Given the description of an element on the screen output the (x, y) to click on. 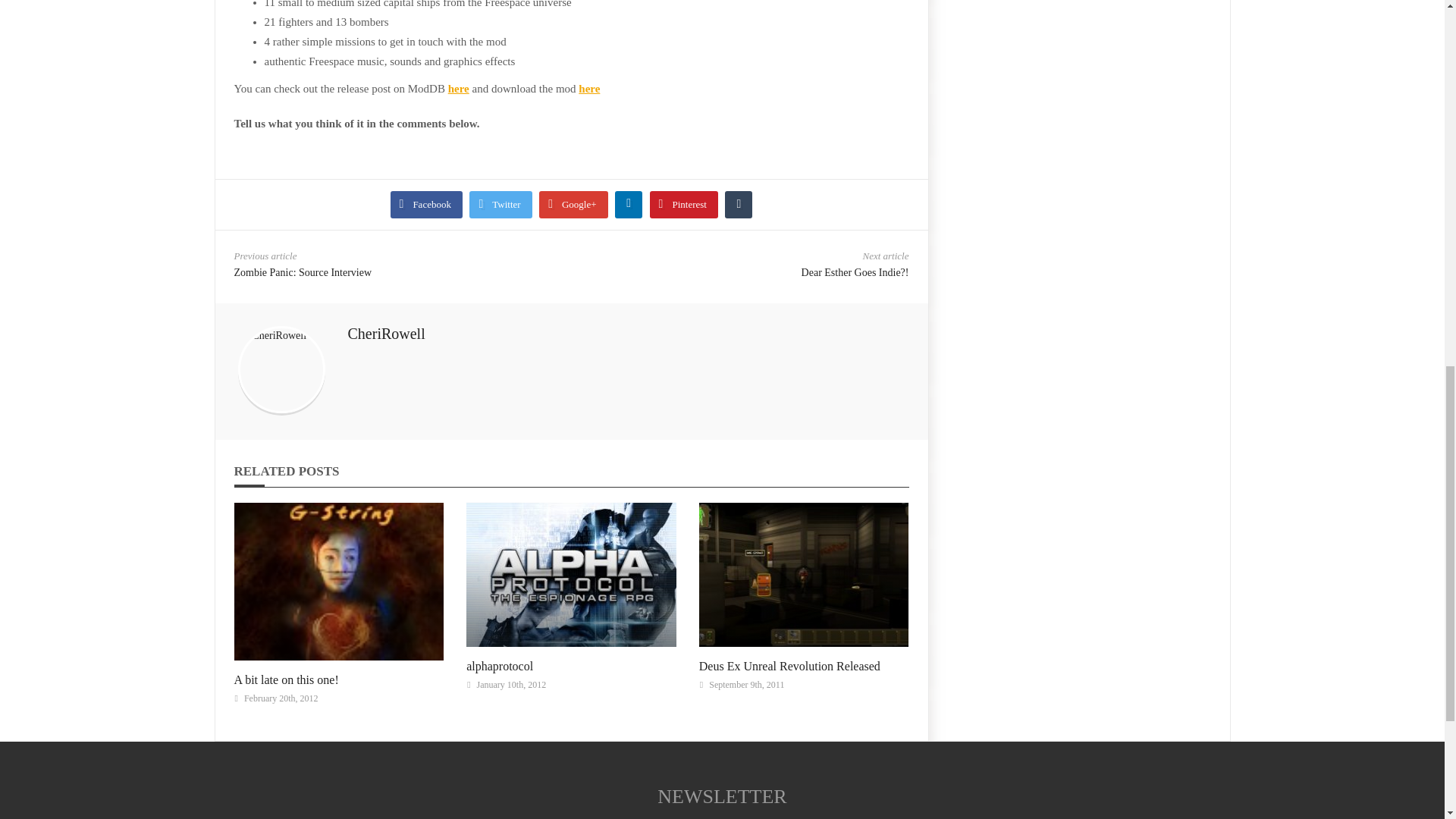
Zombie Panic: Source Interview (301, 272)
Posts by CheriRowell (386, 333)
Dear Esther Goes Indie?! (855, 272)
